Given the description of an element on the screen output the (x, y) to click on. 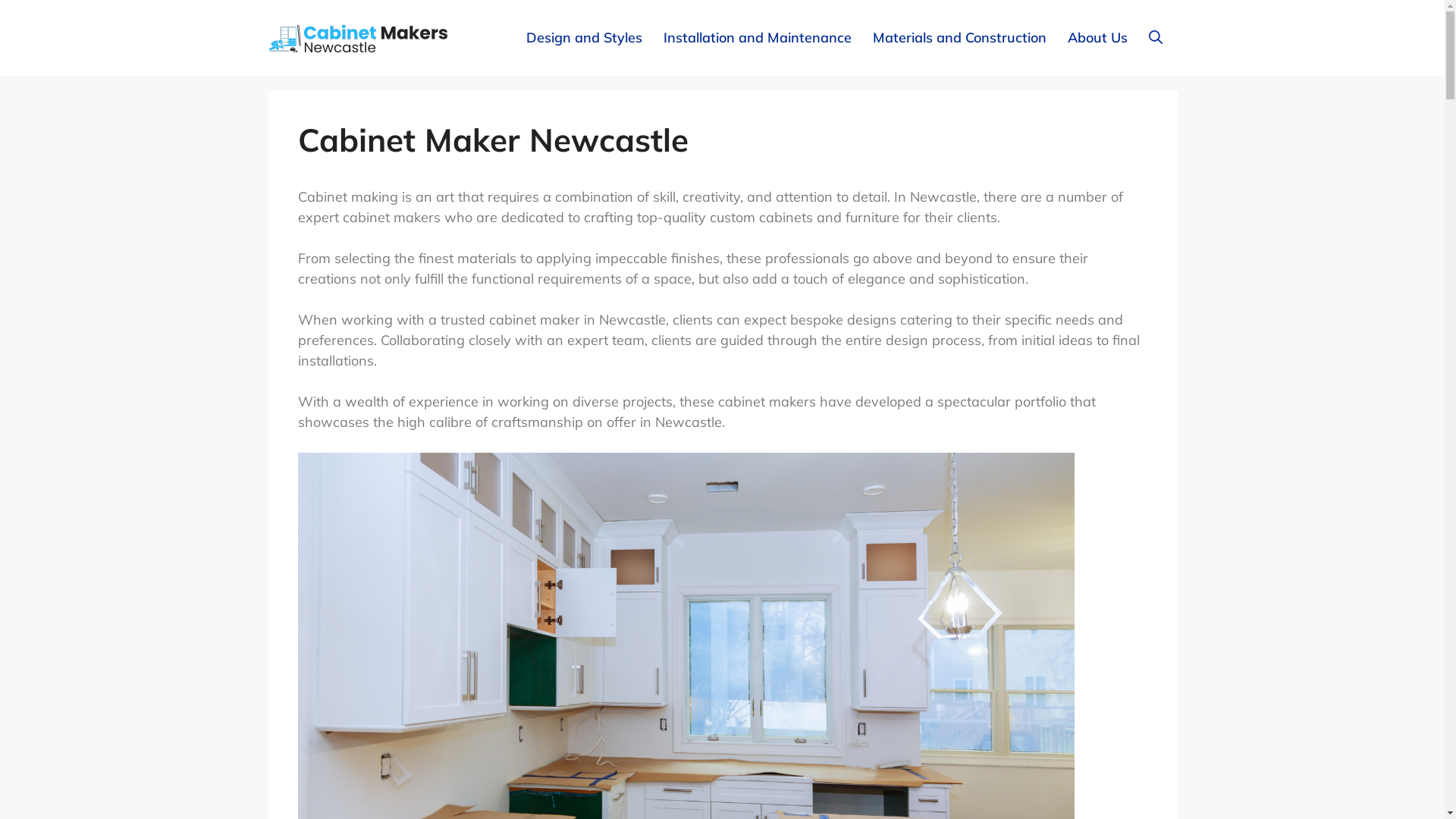
Materials and Construction Element type: text (953, 37)
Design and Styles Element type: text (579, 37)
Installation and Maintenance Element type: text (751, 37)
About Us Element type: text (1092, 37)
